Given the description of an element on the screen output the (x, y) to click on. 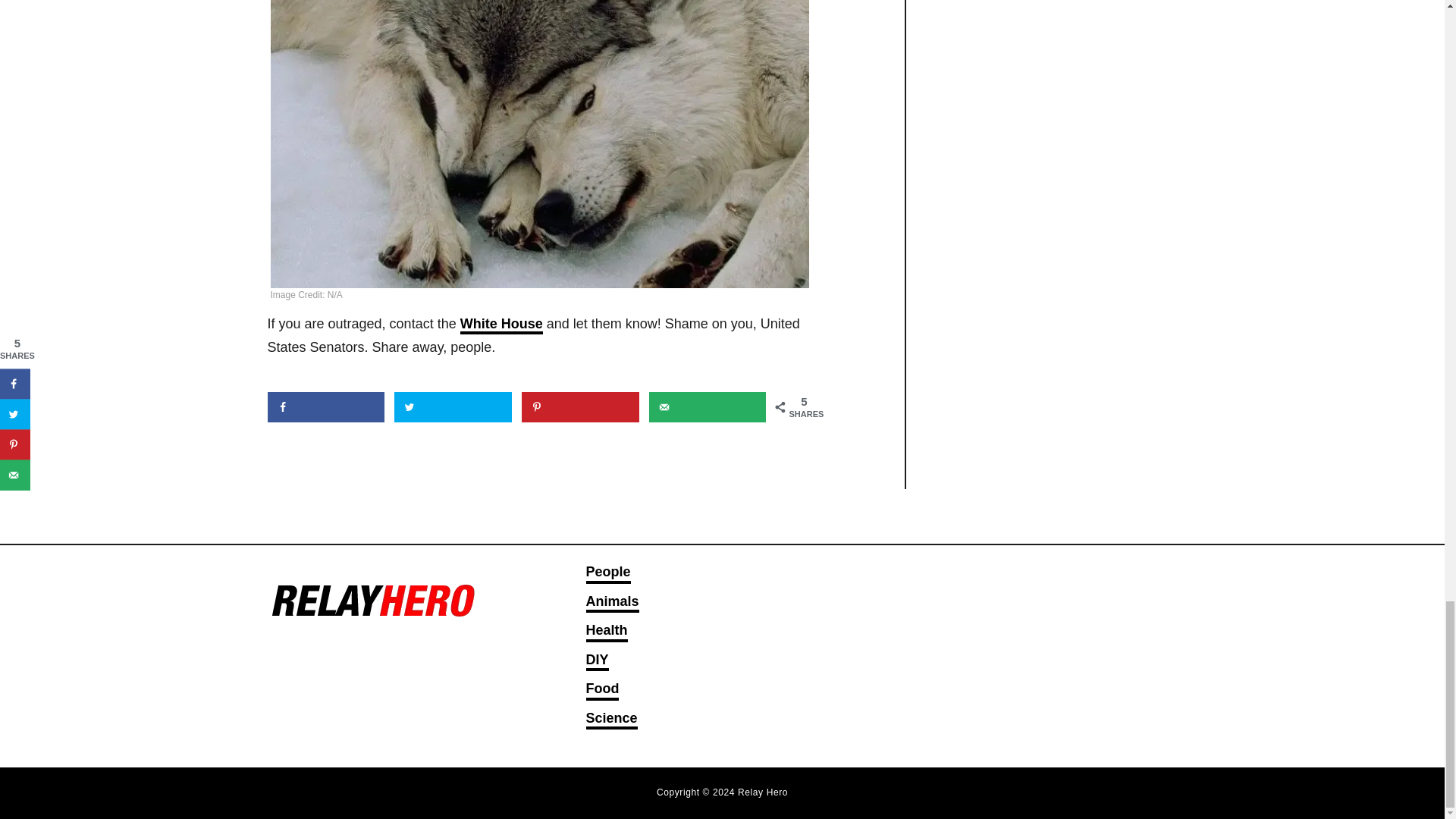
Animals (612, 602)
DIY (596, 661)
Share on Twitter (453, 407)
Health (606, 631)
Science (611, 720)
Save to Pinterest (580, 407)
Food (601, 690)
Share on Facebook (325, 407)
Send over email (708, 407)
White House (501, 325)
People (607, 573)
